Given the description of an element on the screen output the (x, y) to click on. 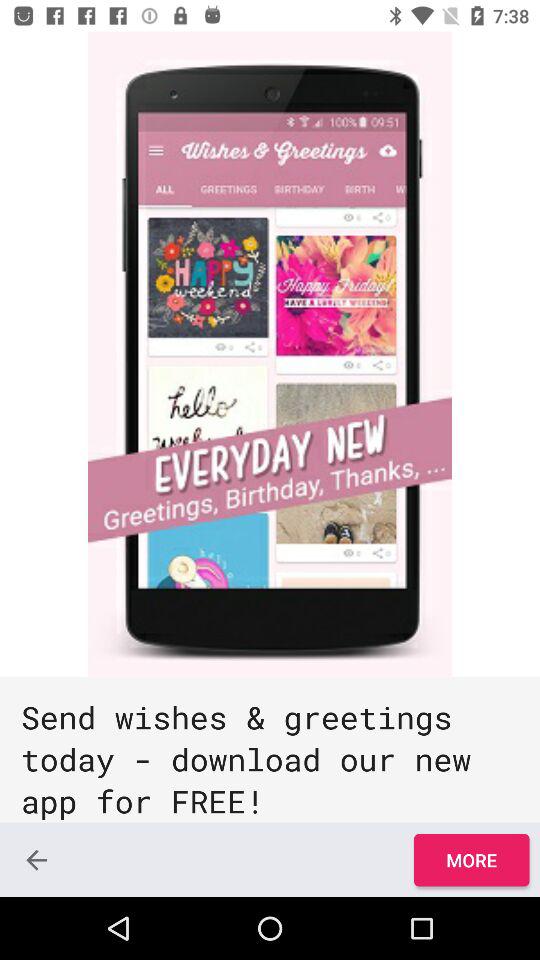
jump to more (471, 859)
